Given the description of an element on the screen output the (x, y) to click on. 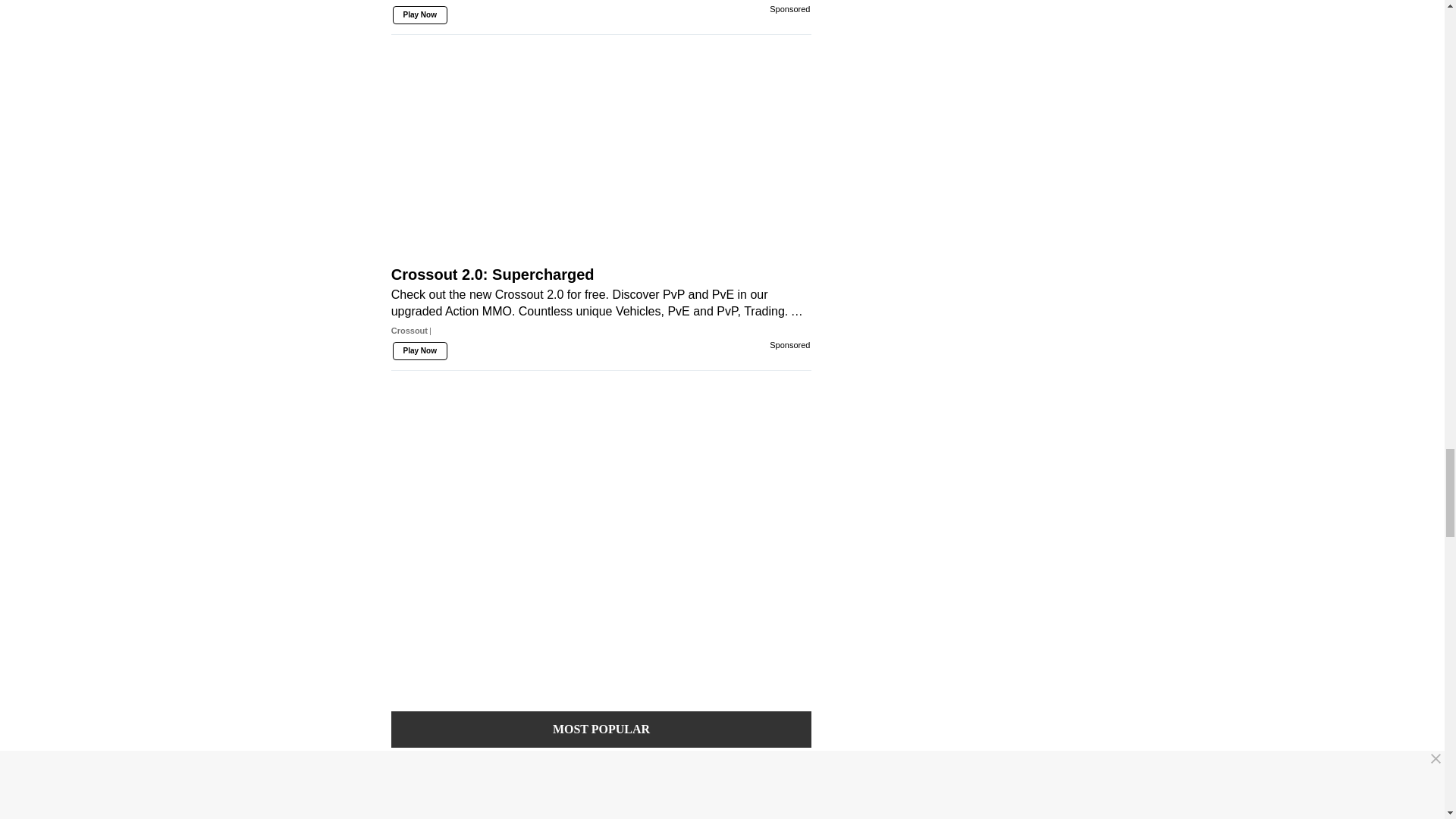
Play War Thunder now for free (600, 17)
